Given the description of an element on the screen output the (x, y) to click on. 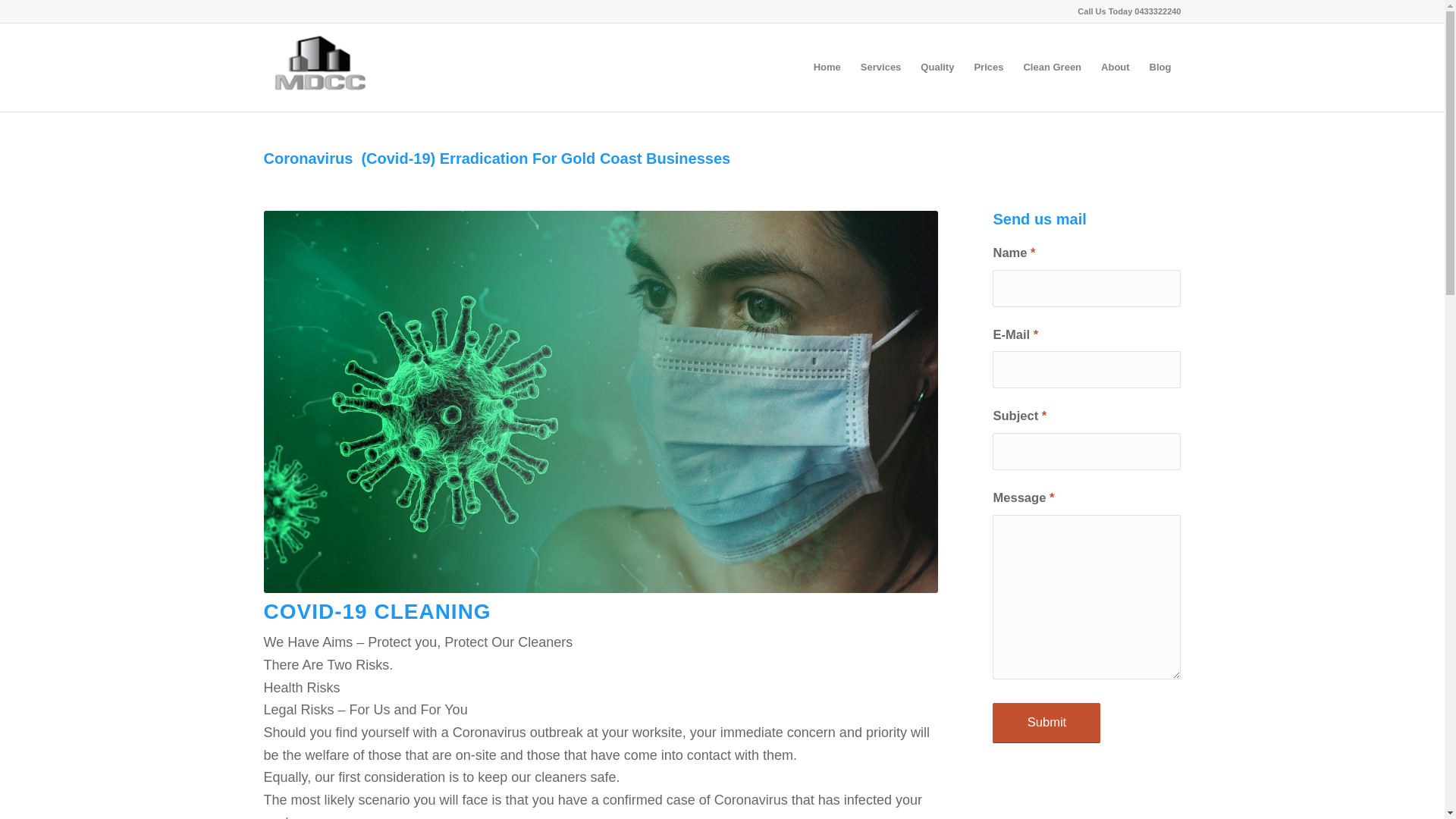
Prices Element type: text (988, 67)
Clean Green Element type: text (1052, 67)
coronavirus_cleaning_Gold_Coast Element type: hover (600, 401)
Services Element type: text (880, 67)
Home Element type: text (826, 67)
About Element type: text (1115, 67)
Blog Element type: text (1160, 67)
Quality Element type: text (936, 67)
Submit Element type: text (1046, 722)
